Given the description of an element on the screen output the (x, y) to click on. 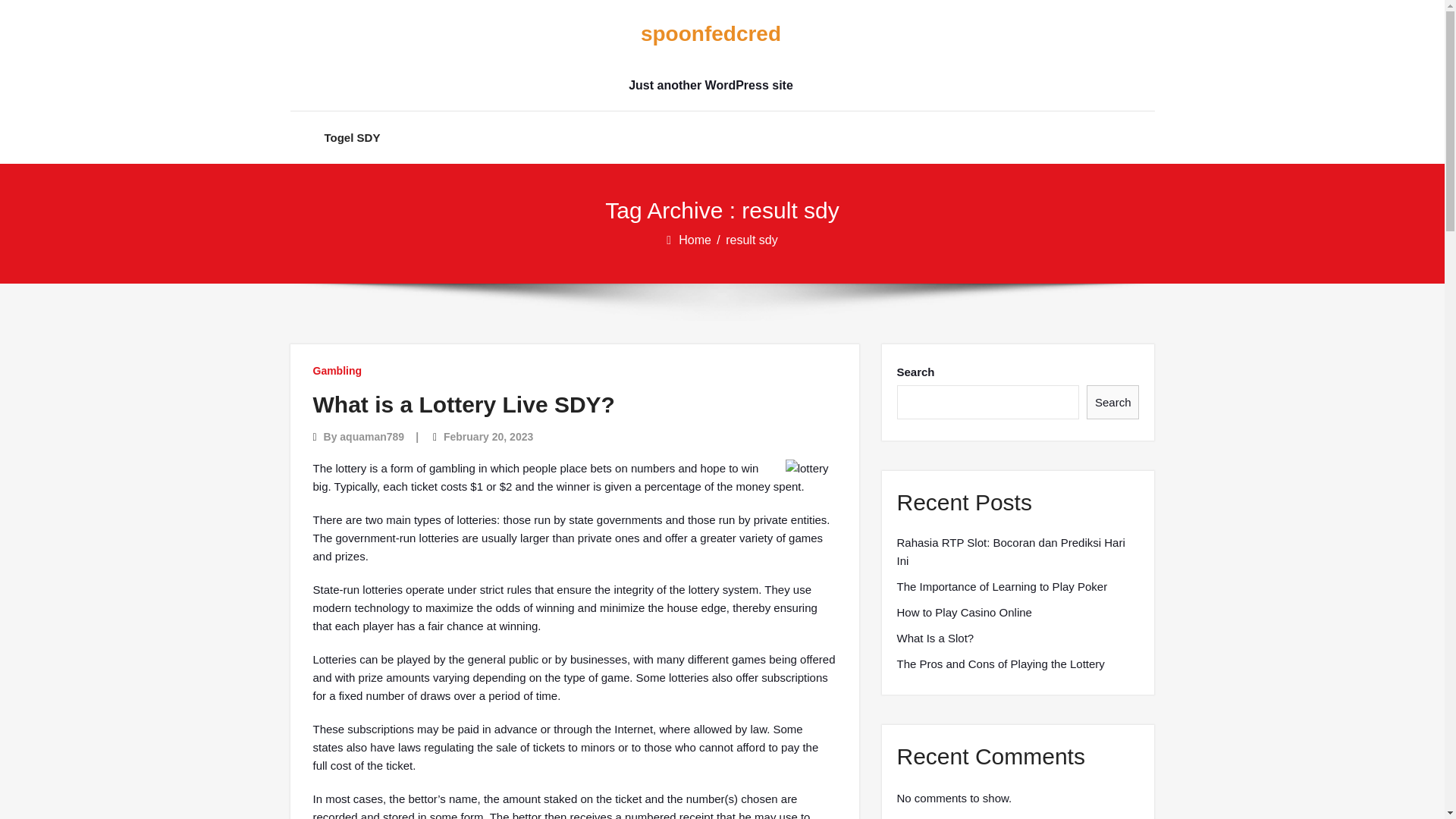
How to Play Casino Online (963, 612)
aquaman789 (371, 436)
What Is a Slot? (935, 638)
The Importance of Learning to Play Poker (1001, 587)
The Pros and Cons of Playing the Lottery (999, 664)
Rahasia RTP Slot: Bocoran dan Prediksi Hari Ini (1017, 551)
Home (695, 239)
Search (1113, 401)
Gambling (337, 370)
spoonfedcred (710, 34)
Togel SDY (352, 137)
What is a Lottery Live SDY? (463, 404)
February 20, 2023 (488, 436)
